Given the description of an element on the screen output the (x, y) to click on. 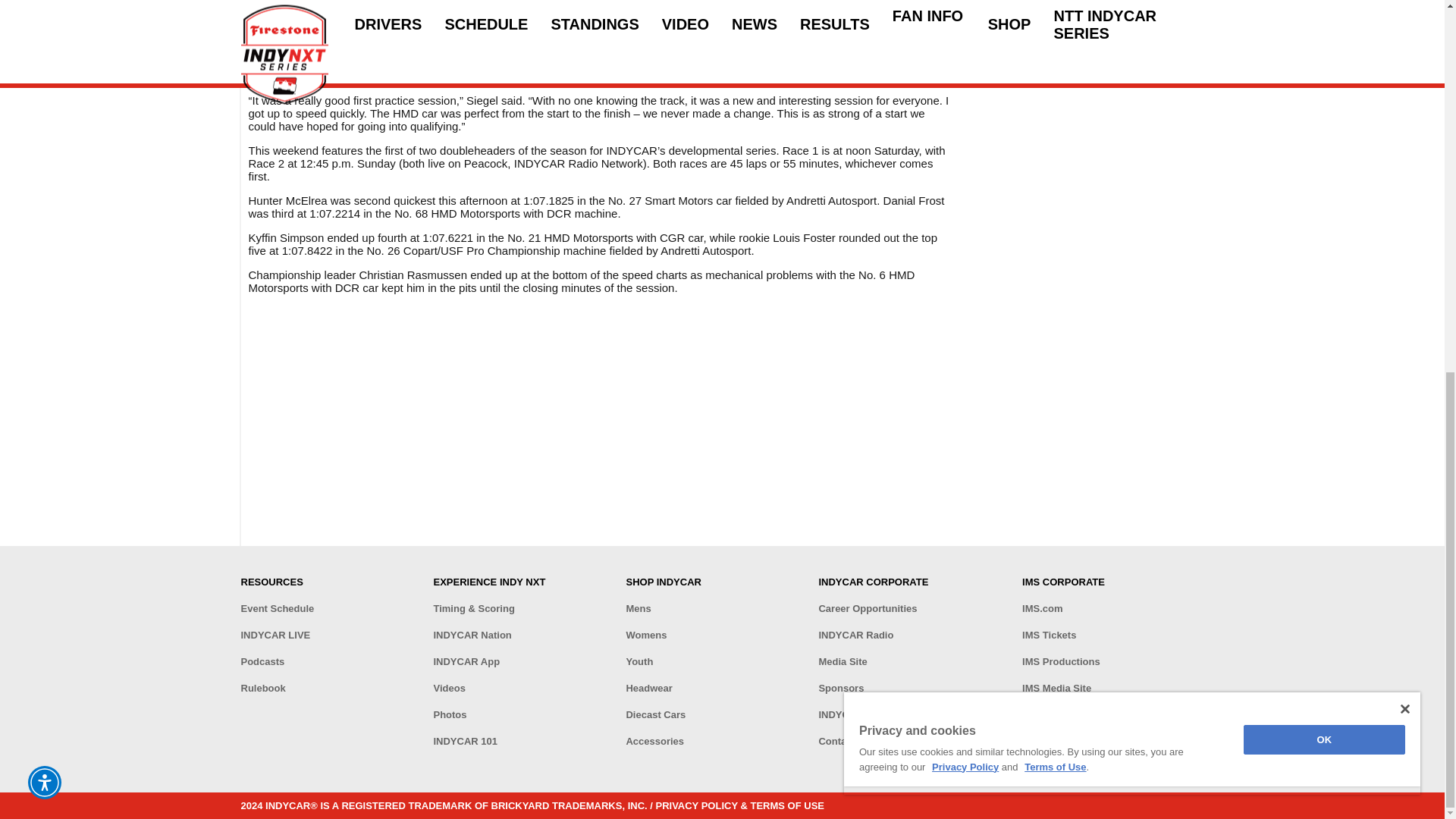
YouTube video player (460, 424)
Practice Results (318, 75)
Accessibility Menu (44, 104)
RESOURCES (331, 582)
